Given the description of an element on the screen output the (x, y) to click on. 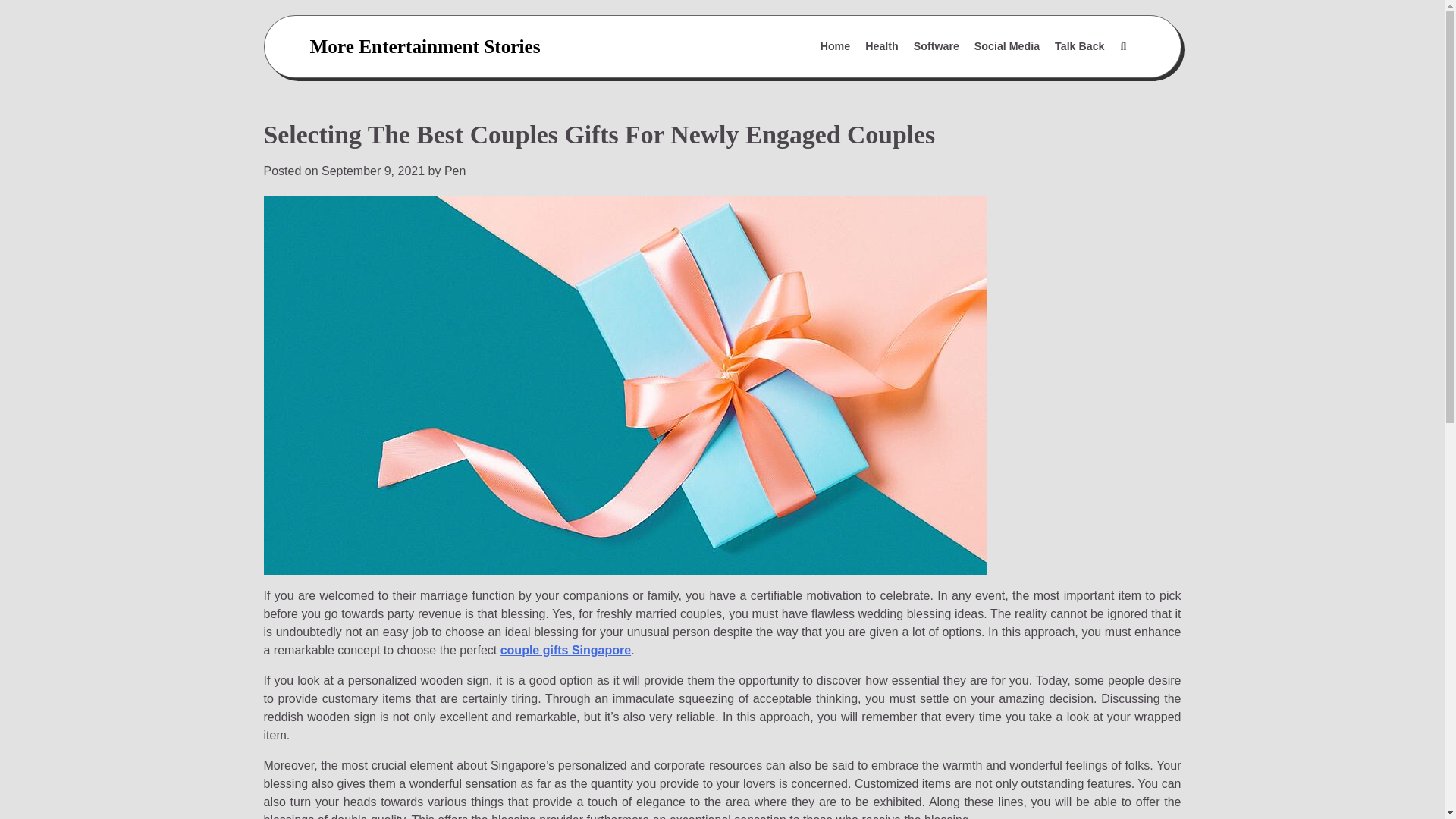
Software (935, 46)
Search (1086, 83)
Talk Back (1079, 46)
Home (835, 46)
Pen (454, 170)
couple gifts Singapore (565, 649)
Search (1123, 47)
September 9, 2021 (373, 170)
More Entertainment Stories (424, 46)
Social Media (1006, 46)
Health (881, 46)
